Given the description of an element on the screen output the (x, y) to click on. 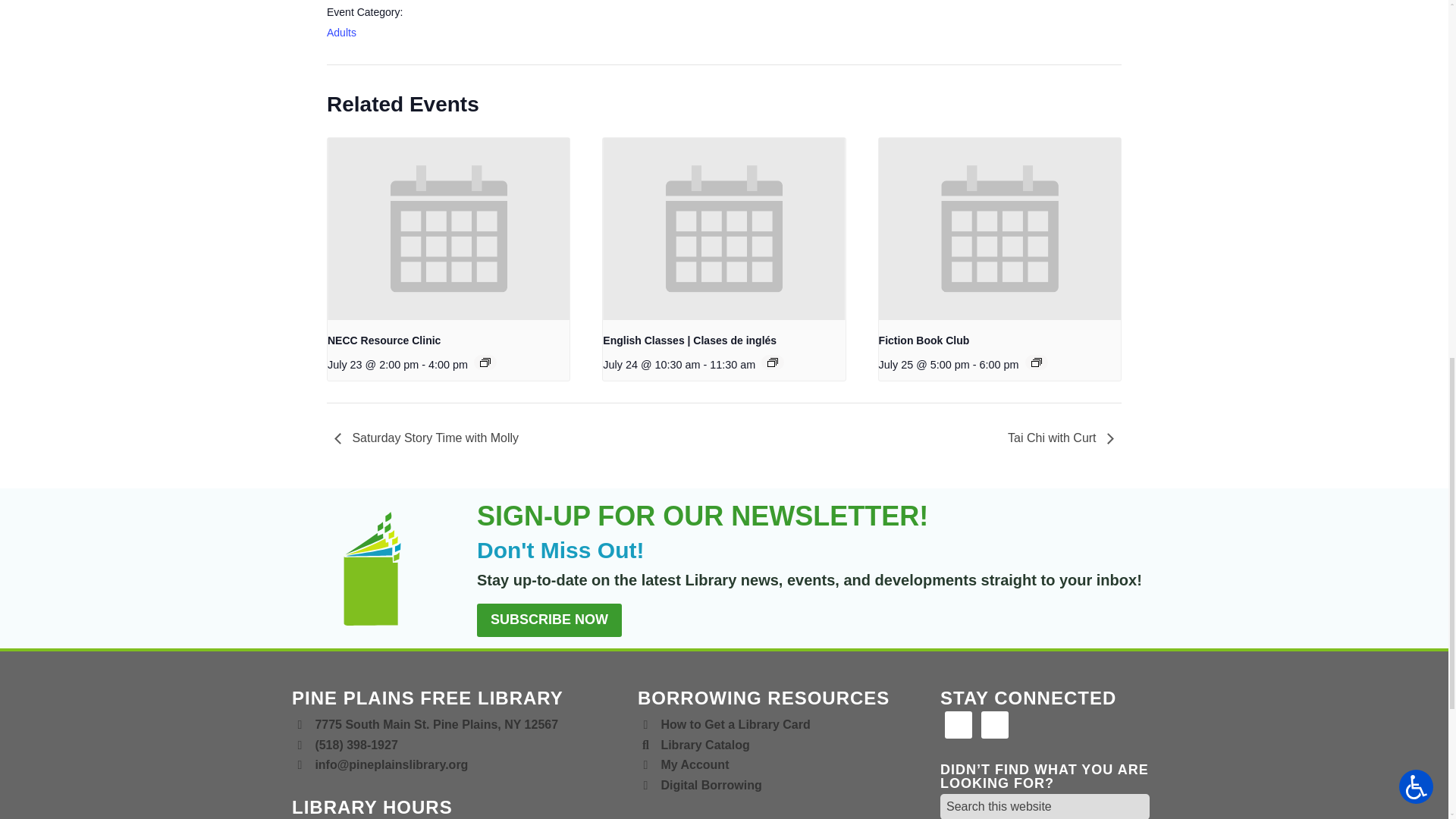
Event Series (485, 361)
Event Series (1036, 361)
Event Series (772, 361)
